Given the description of an element on the screen output the (x, y) to click on. 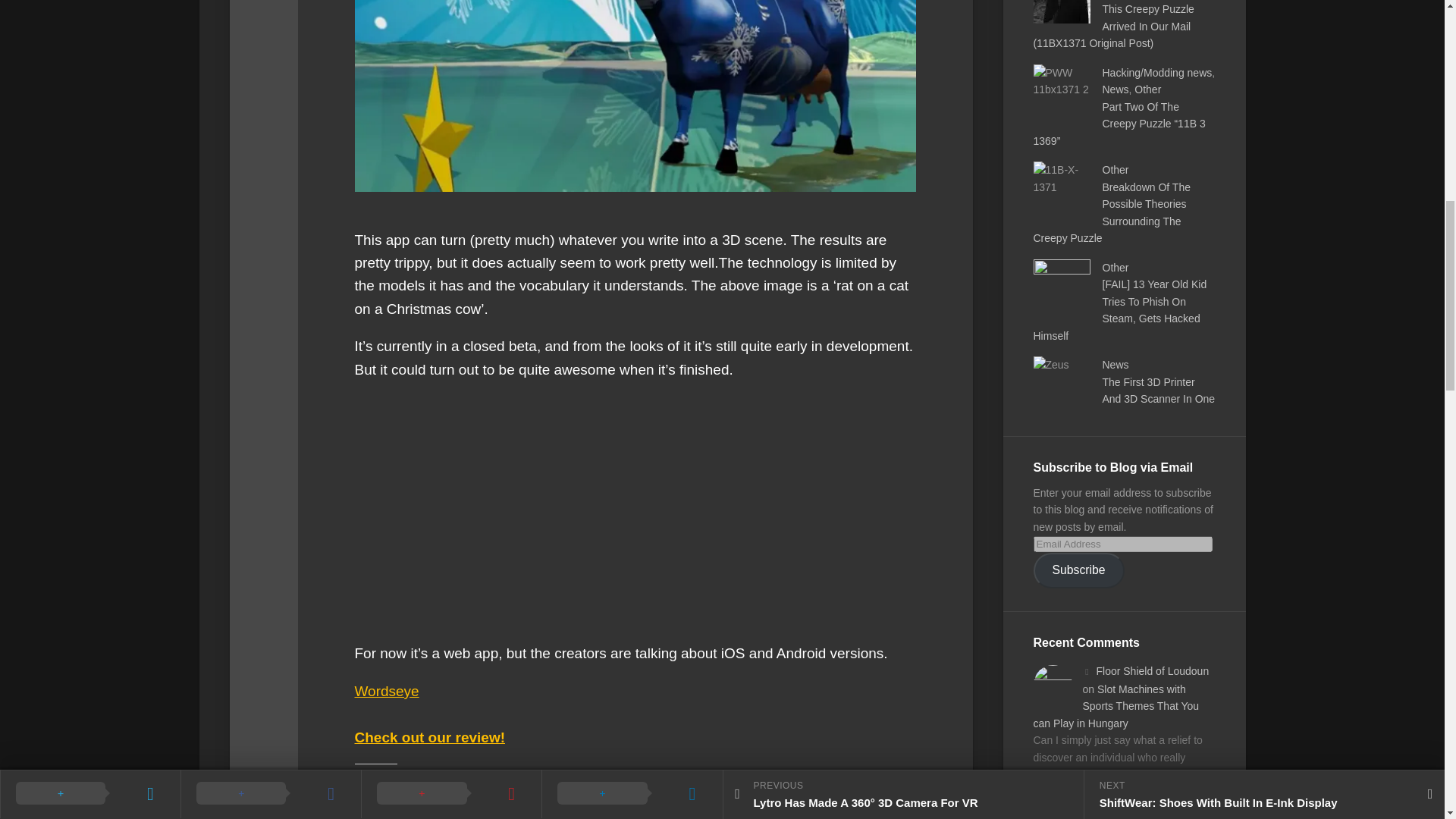
Click to share on Facebook (392, 804)
Twitter (611, 804)
Facebook (392, 804)
Click to share on Pinterest (686, 804)
Click to share on LinkedIn (473, 804)
Check out our review! (430, 737)
Wordseye (387, 691)
Reddit (544, 804)
Click to share on Reddit (544, 804)
Pinterest (686, 804)
